Given the description of an element on the screen output the (x, y) to click on. 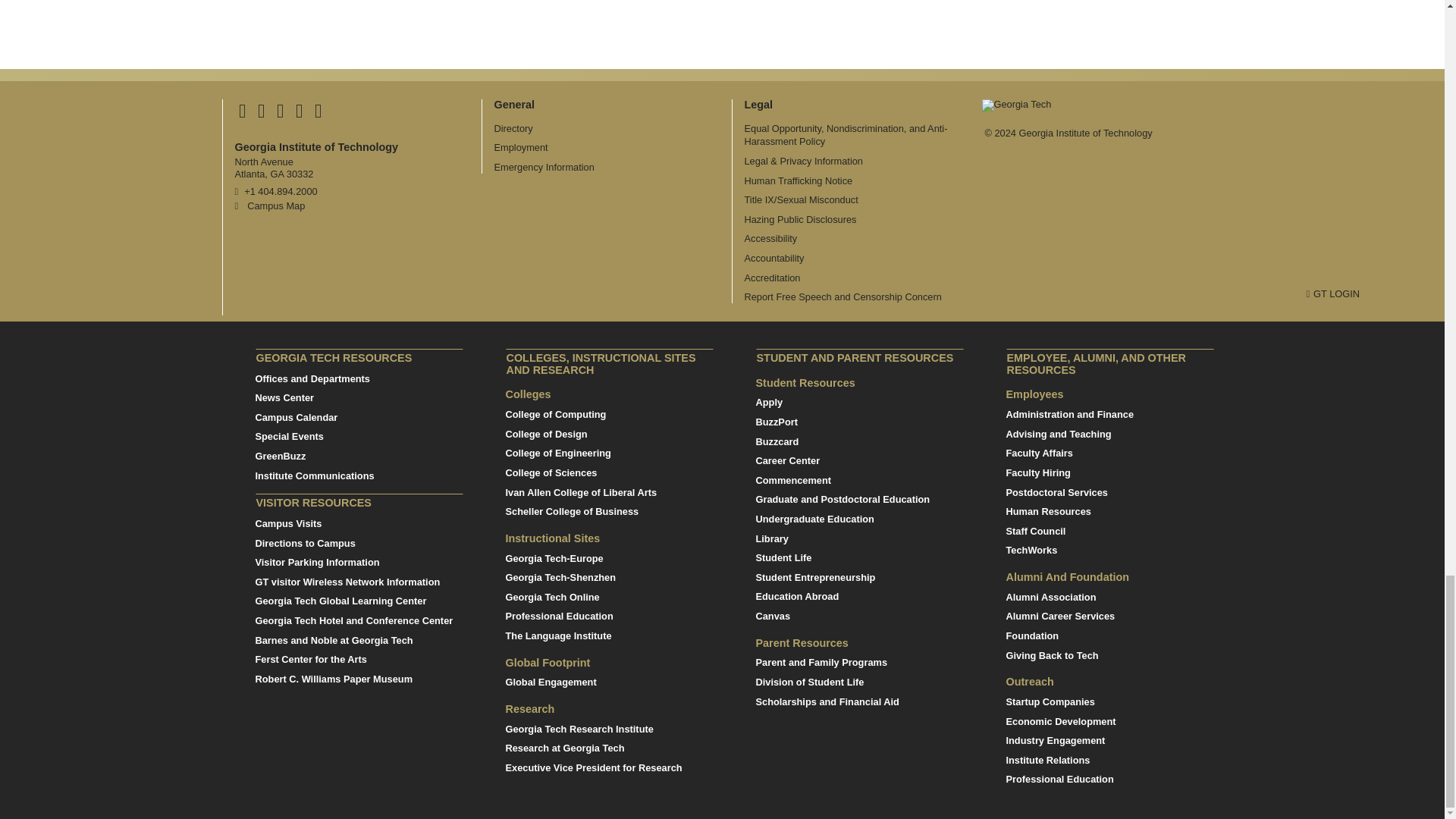
Georgia Institute of Technology Employment (521, 147)
Georgia Institute of Technology Directory (513, 128)
General Main Menu Category (515, 104)
Georgia Institute of Technology Emergency Information (544, 166)
